Given the description of an element on the screen output the (x, y) to click on. 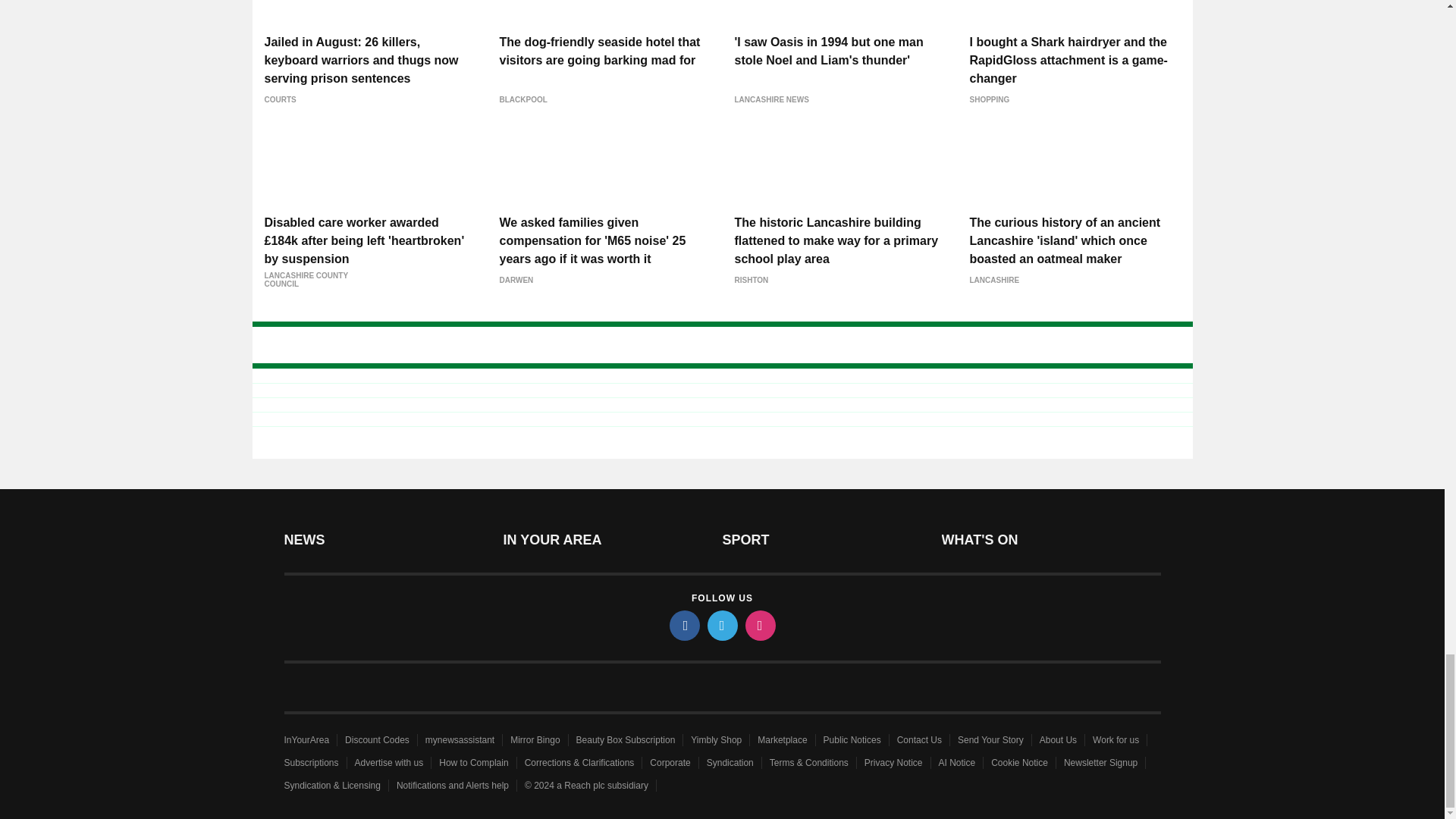
facebook (683, 625)
twitter (721, 625)
instagram (759, 625)
